Given the description of an element on the screen output the (x, y) to click on. 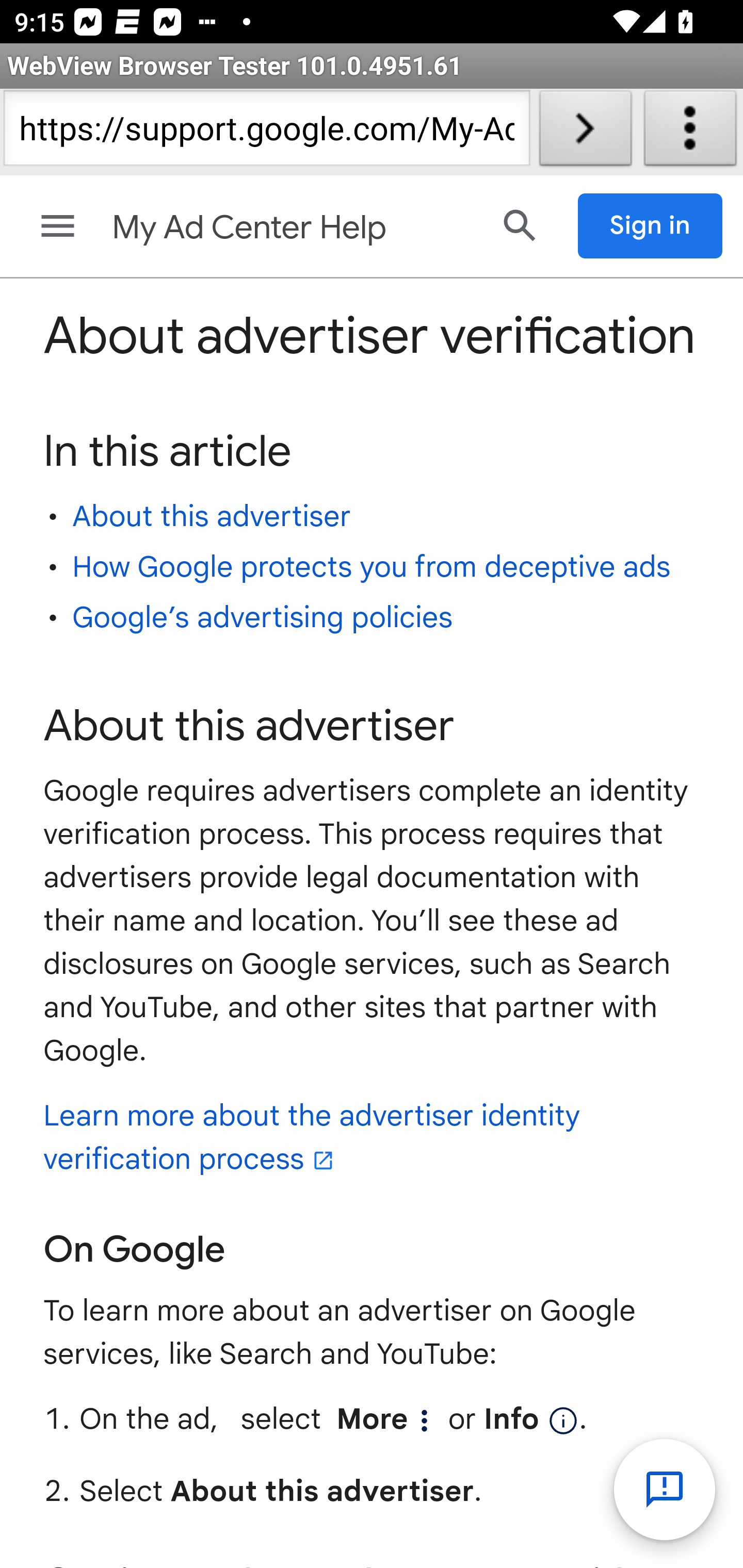
Load URL (585, 132)
About WebView (690, 132)
Main menu (58, 226)
My Ad Center Help (292, 227)
Search Help Center (519, 225)
Sign in (650, 226)
About this advertiser (212, 516)
How Google protects you from deceptive ads (371, 566)
Google’s advertising policies (262, 617)
